Given the description of an element on the screen output the (x, y) to click on. 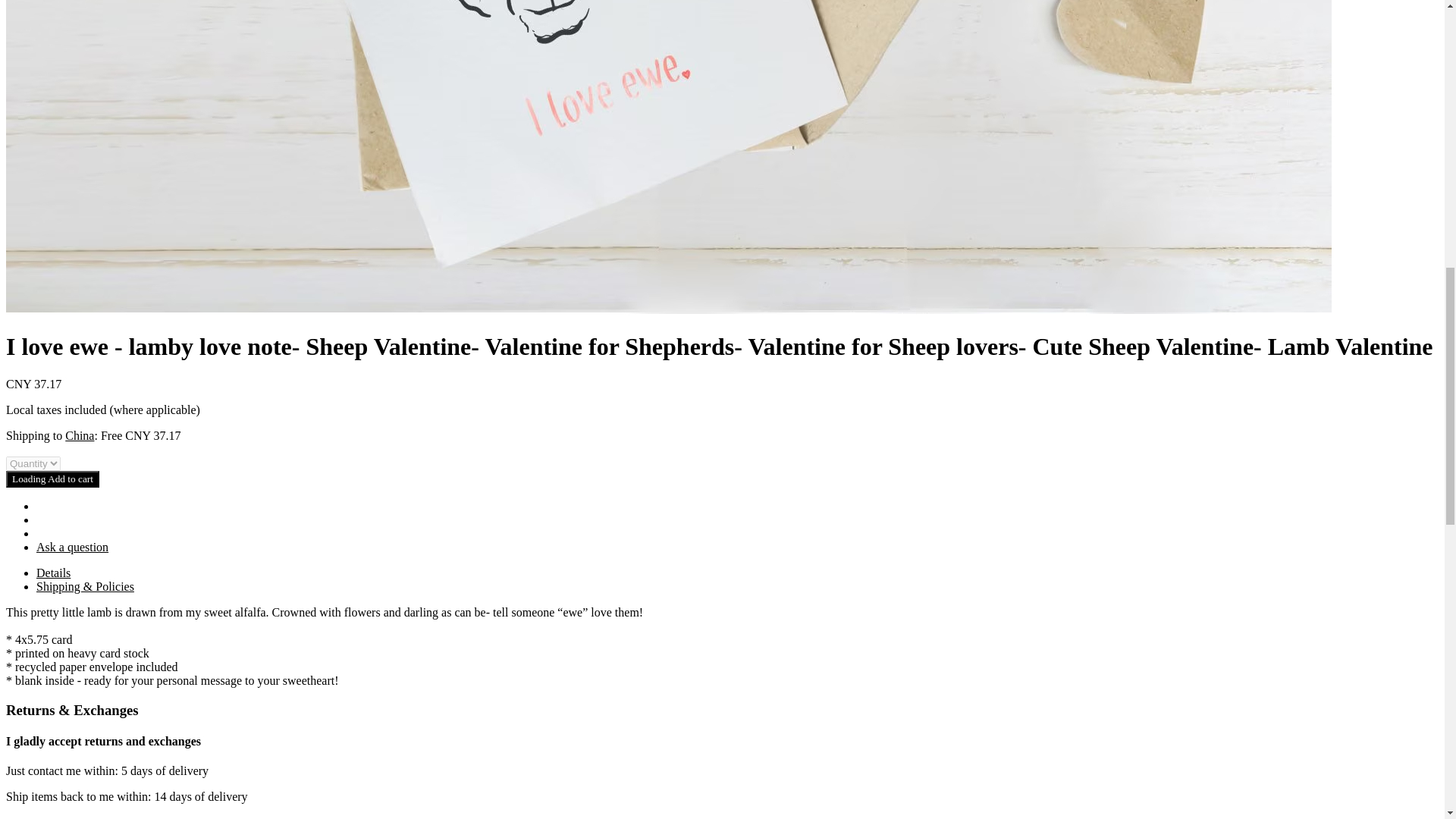
Details (52, 572)
Ask a question (71, 546)
Loading Add to cart (52, 478)
China (79, 435)
